Given the description of an element on the screen output the (x, y) to click on. 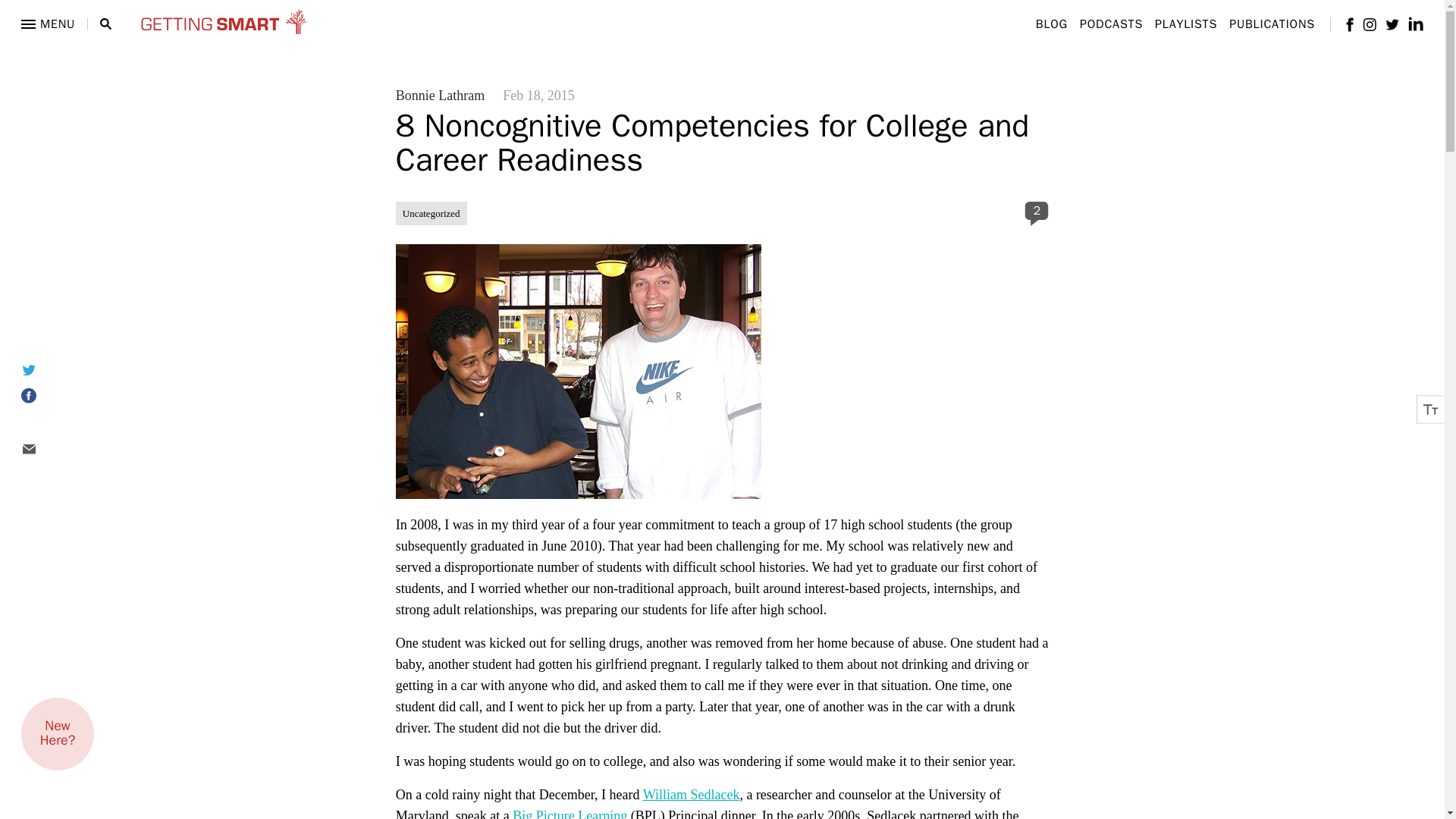
Share on LinkedIn (47, 422)
PUBLICATIONS (1271, 23)
Share on Facebook (47, 395)
Share on Twitter (47, 369)
linkedin (1415, 23)
PLAYLISTS (1185, 23)
Share via Email (47, 449)
BLOG (1051, 23)
MENU (48, 24)
instagram (1368, 24)
PODCASTS (1111, 23)
twitter (1392, 23)
